Given the description of an element on the screen output the (x, y) to click on. 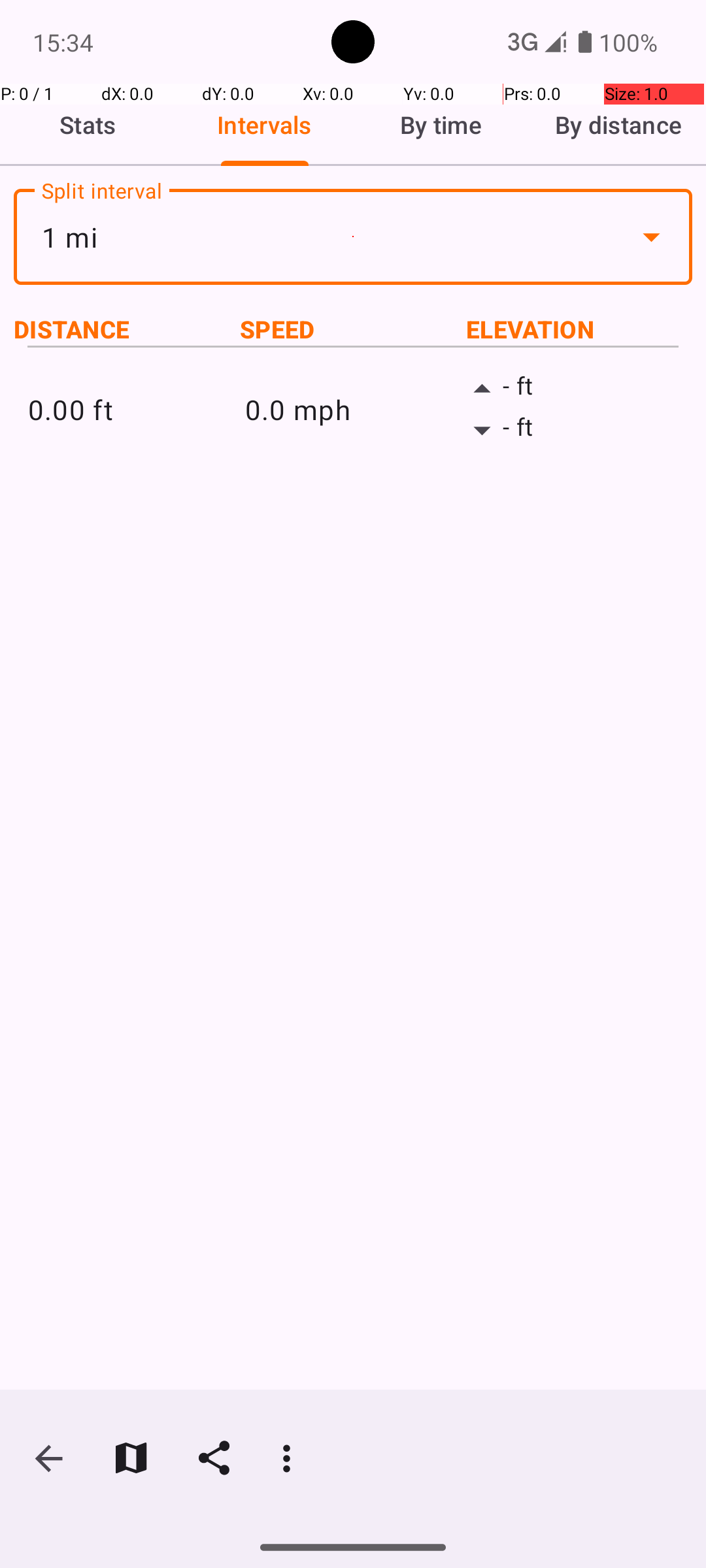
Stats Element type: android.widget.LinearLayout (88, 124)
Intervals Element type: android.widget.LinearLayout (264, 124)
By time Element type: android.widget.LinearLayout (441, 124)
By distance Element type: android.widget.LinearLayout (617, 124)
Show on map Element type: android.widget.Button (130, 1458)
1 mi Element type: android.widget.Spinner (352, 236)
Show dropdown menu Element type: android.widget.ImageButton (650, 236)
DISTANCE Element type: android.widget.TextView (126, 328)
SPEED Element type: android.widget.TextView (352, 328)
ELEVATION Element type: android.widget.TextView (579, 328)
0.00 ft Element type: android.widget.TextView (135, 408)
0.0 mph Element type: android.widget.TextView (352, 408)
- ft Element type: android.widget.TextView (569, 388)
